Given the description of an element on the screen output the (x, y) to click on. 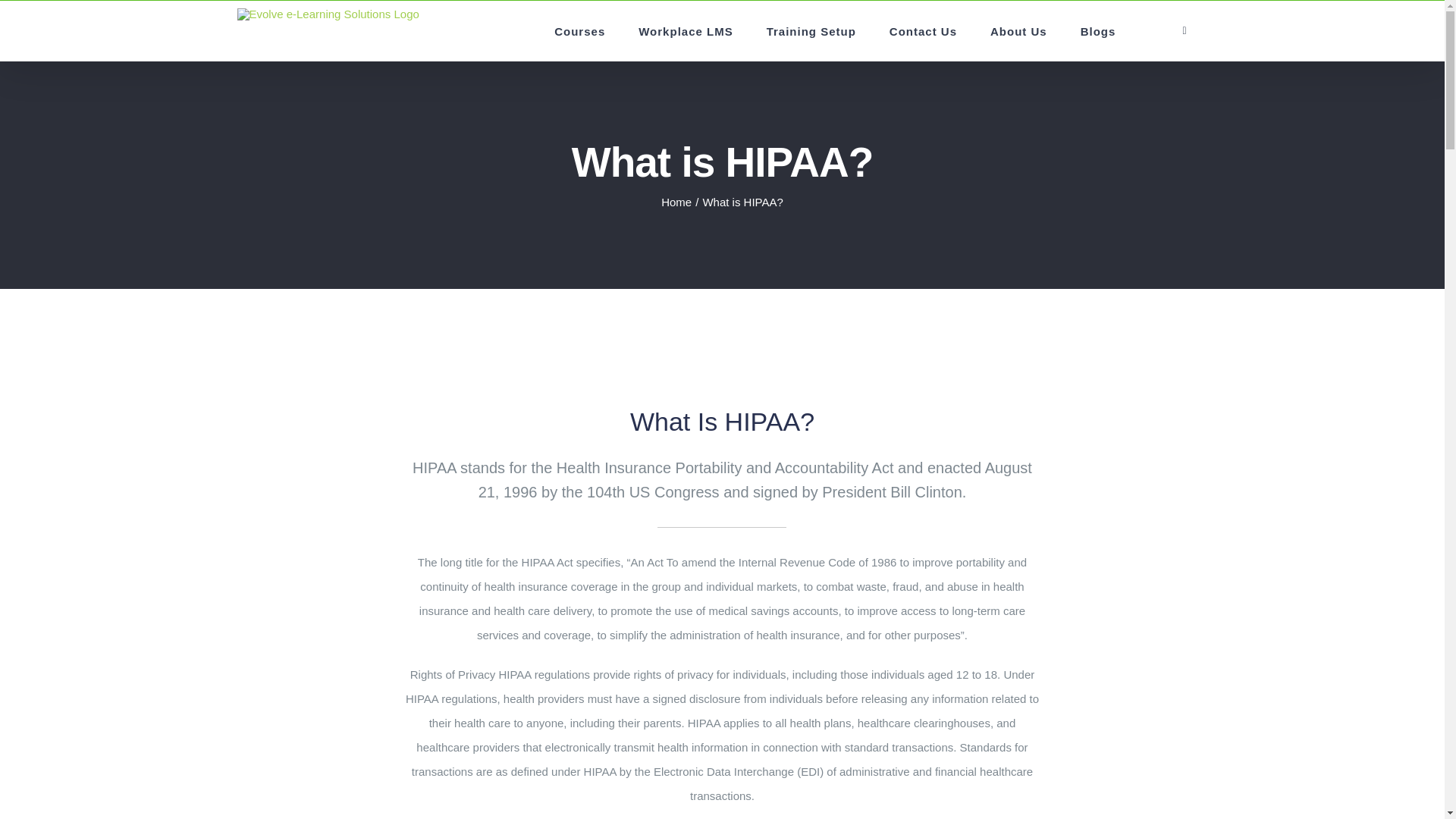
Blogs (1098, 30)
Contact Us (923, 30)
About Us (1019, 30)
Workplace LMS (685, 30)
Courses (579, 30)
Training Setup (810, 30)
